Given the description of an element on the screen output the (x, y) to click on. 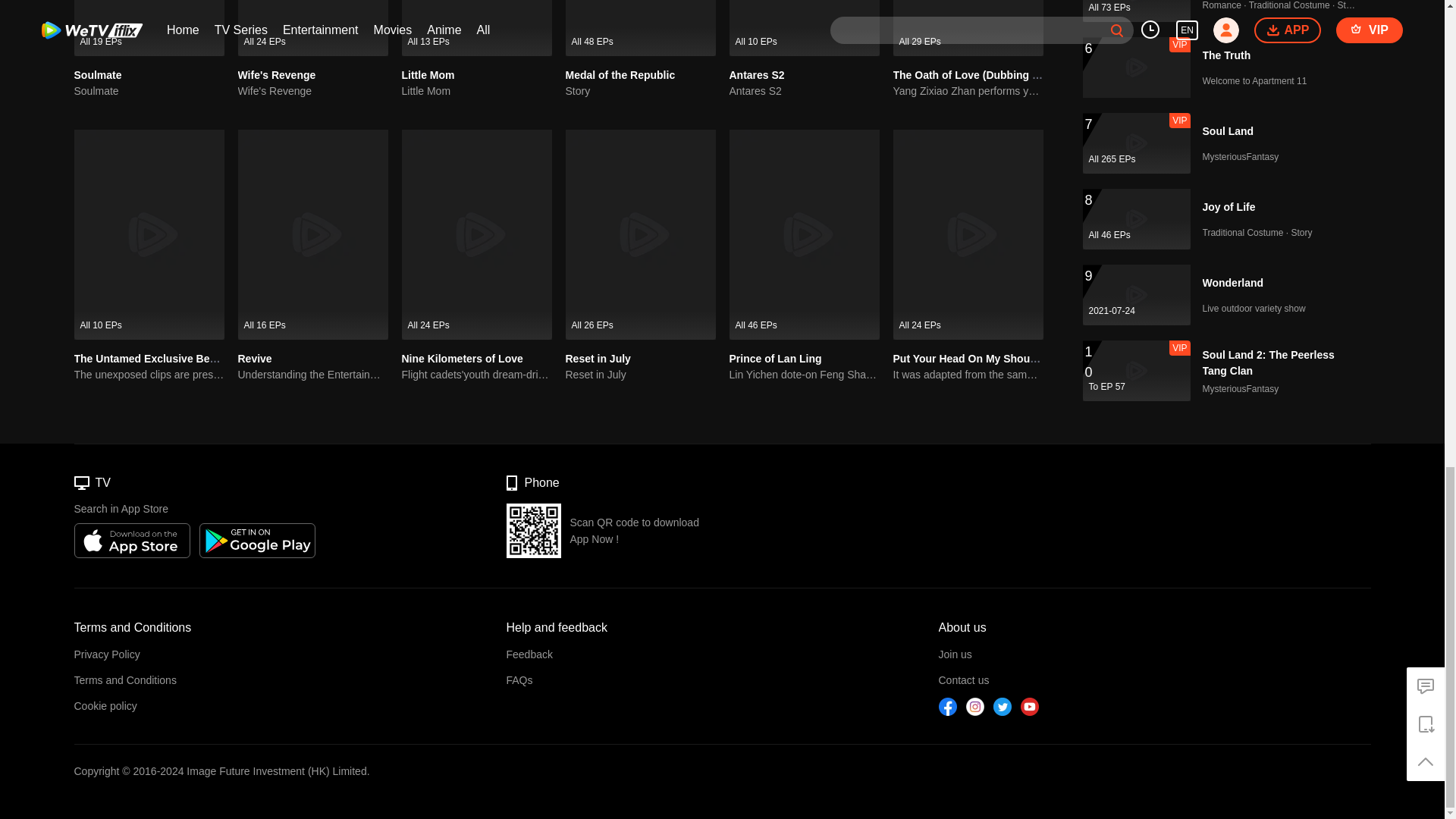
Soulmate (149, 28)
Little Mom (476, 28)
Wife's Revenge (313, 91)
Soulmate (98, 74)
Wife's Revenge (276, 74)
Wife's Revenge (313, 28)
Soulmate (149, 91)
